Given the description of an element on the screen output the (x, y) to click on. 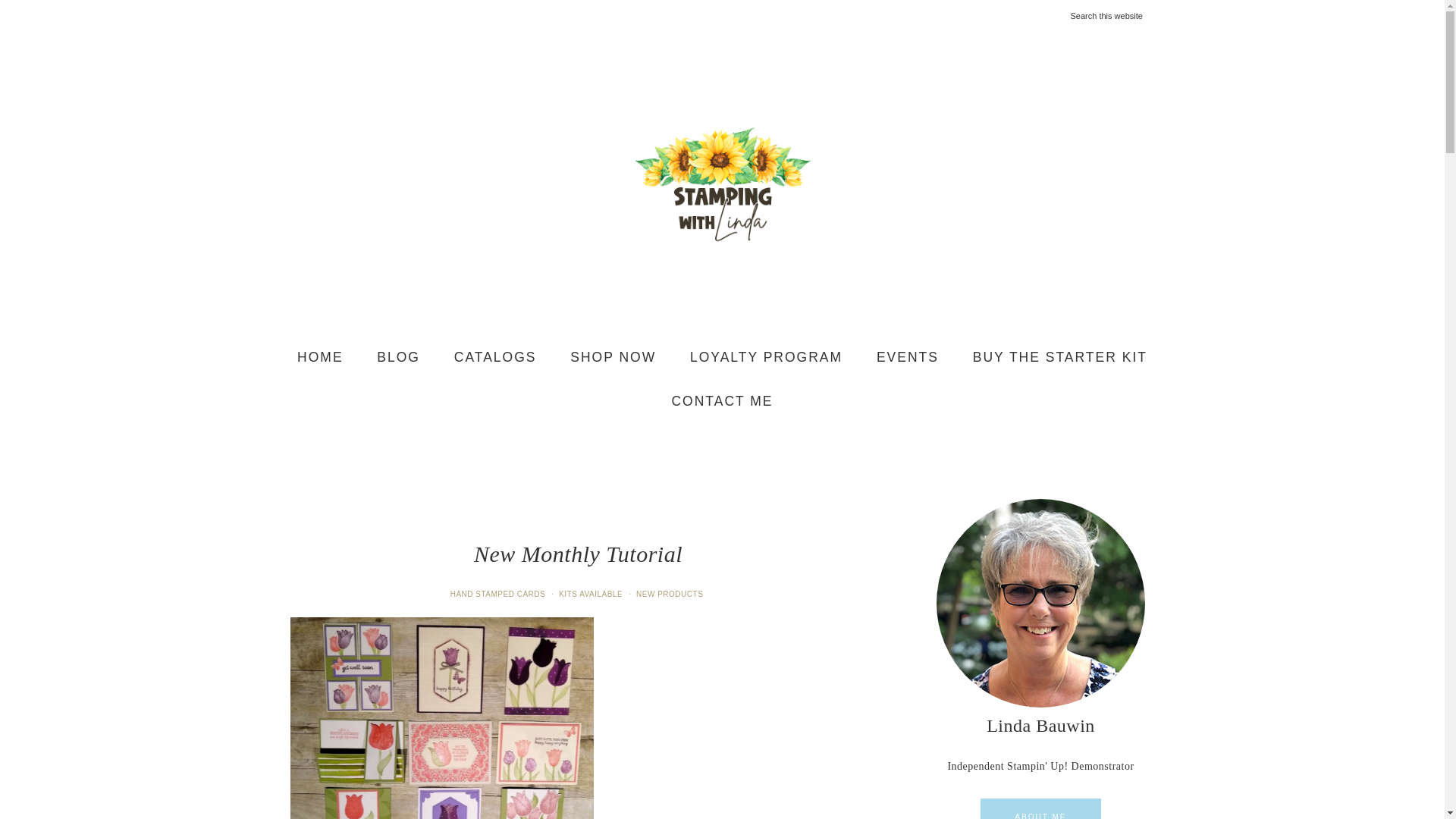
CONTACT ME (721, 401)
HOME (320, 357)
STAMPING WITH LINDA, CARD-IOLOGIST (722, 183)
BLOG (398, 357)
HAND STAMPED CARDS (498, 593)
BUY THE STARTER KIT (1059, 357)
EVENTS (907, 357)
LOYALTY PROGRAM (766, 357)
CATALOGS (495, 357)
SHOP NOW (612, 357)
KITS AVAILABLE (592, 593)
NEW PRODUCTS (671, 593)
